Given the description of an element on the screen output the (x, y) to click on. 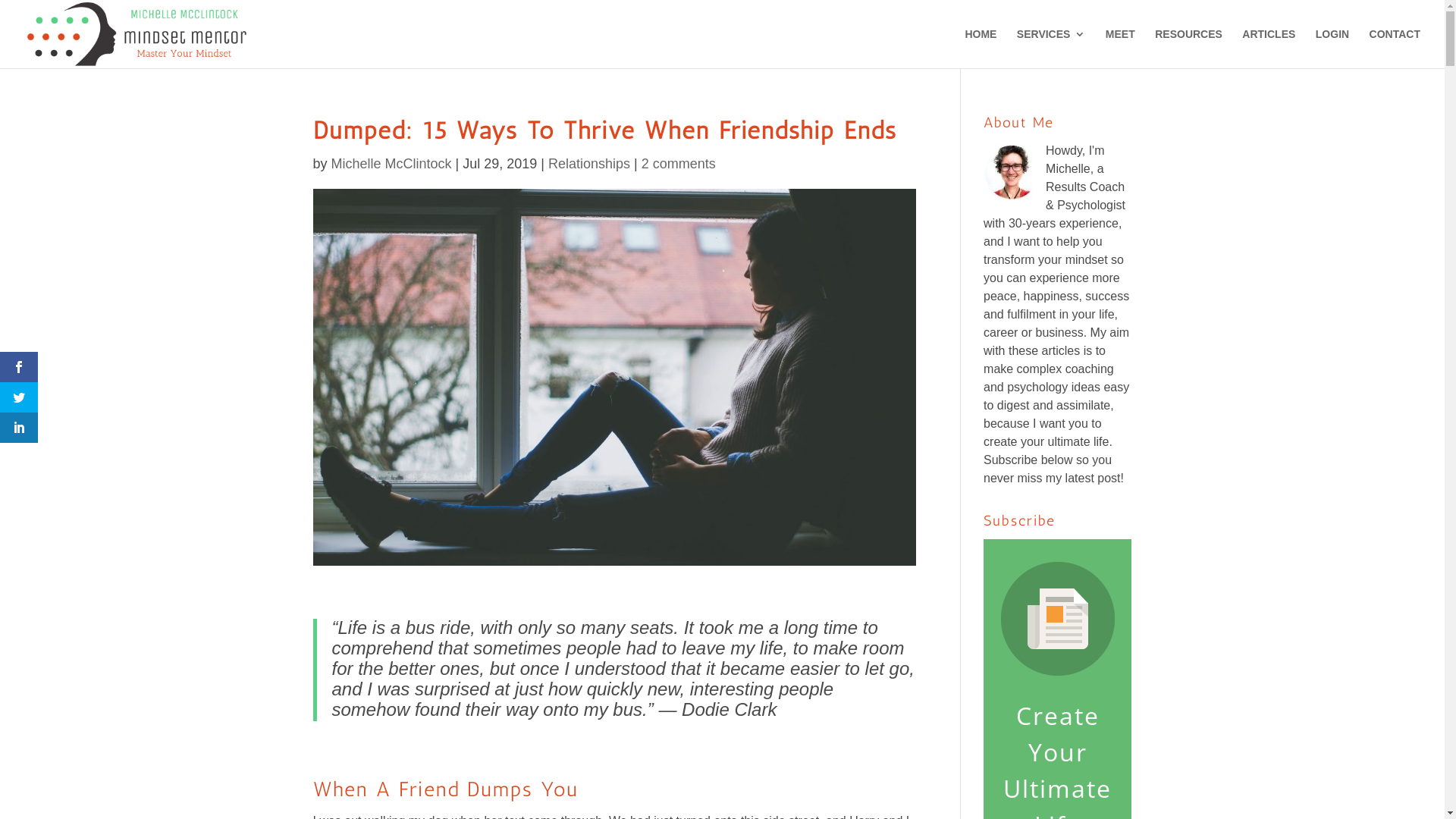
LOGIN Element type: text (1332, 48)
HOME Element type: text (980, 48)
ARTICLES Element type: text (1268, 48)
2 comments Element type: text (678, 163)
SERVICES Element type: text (1050, 48)
Michelle McClintock Element type: text (391, 163)
CONTACT Element type: text (1394, 48)
Relationships Element type: text (589, 163)
MEET Element type: text (1120, 48)
RESOURCES Element type: text (1188, 48)
